Given the description of an element on the screen output the (x, y) to click on. 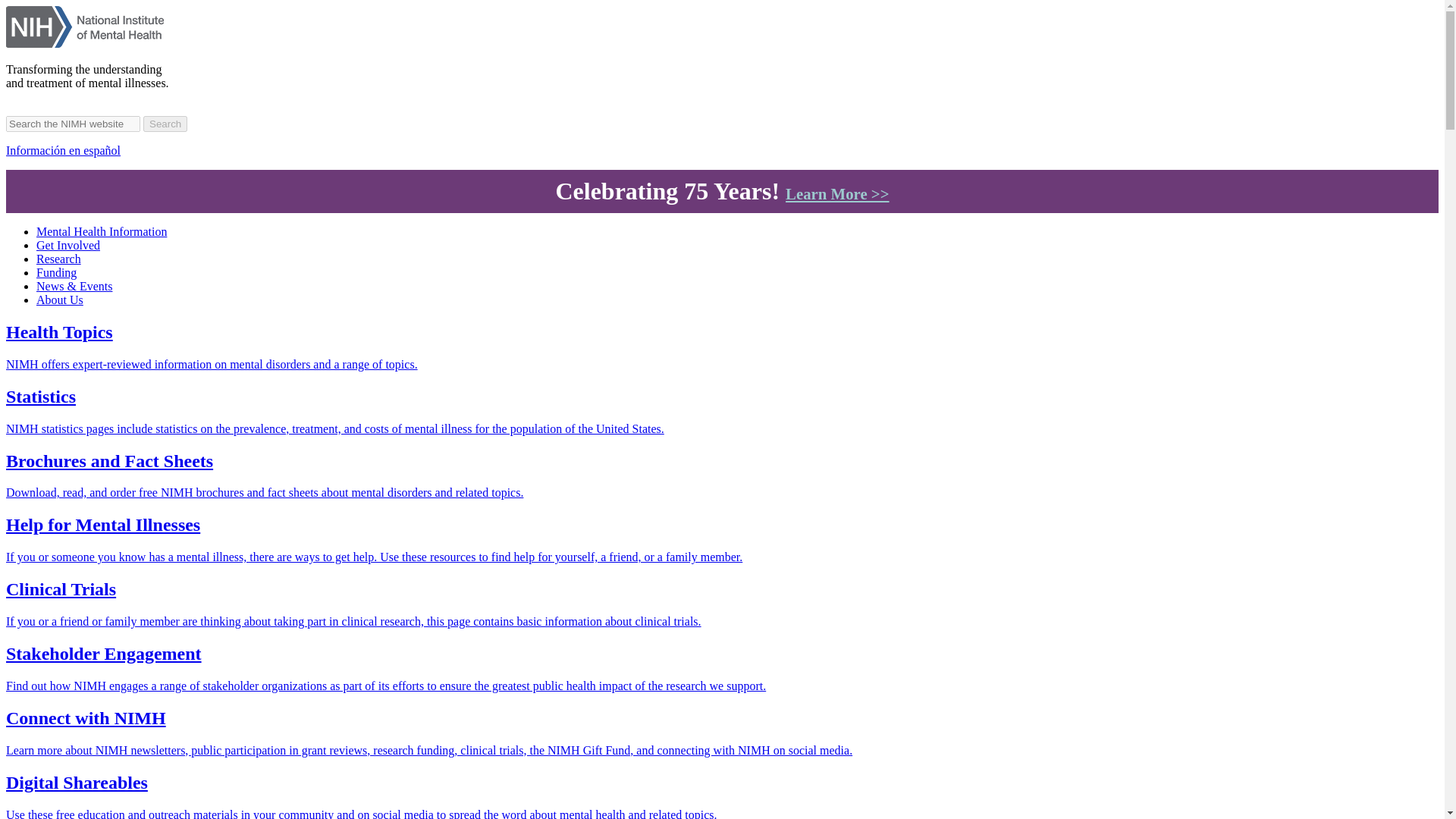
About Us (59, 299)
Research (58, 258)
Get Involved (68, 245)
Mental Health Information (101, 231)
NIMH Home (90, 42)
Search (164, 123)
Search (164, 123)
Funding (56, 272)
